Given the description of an element on the screen output the (x, y) to click on. 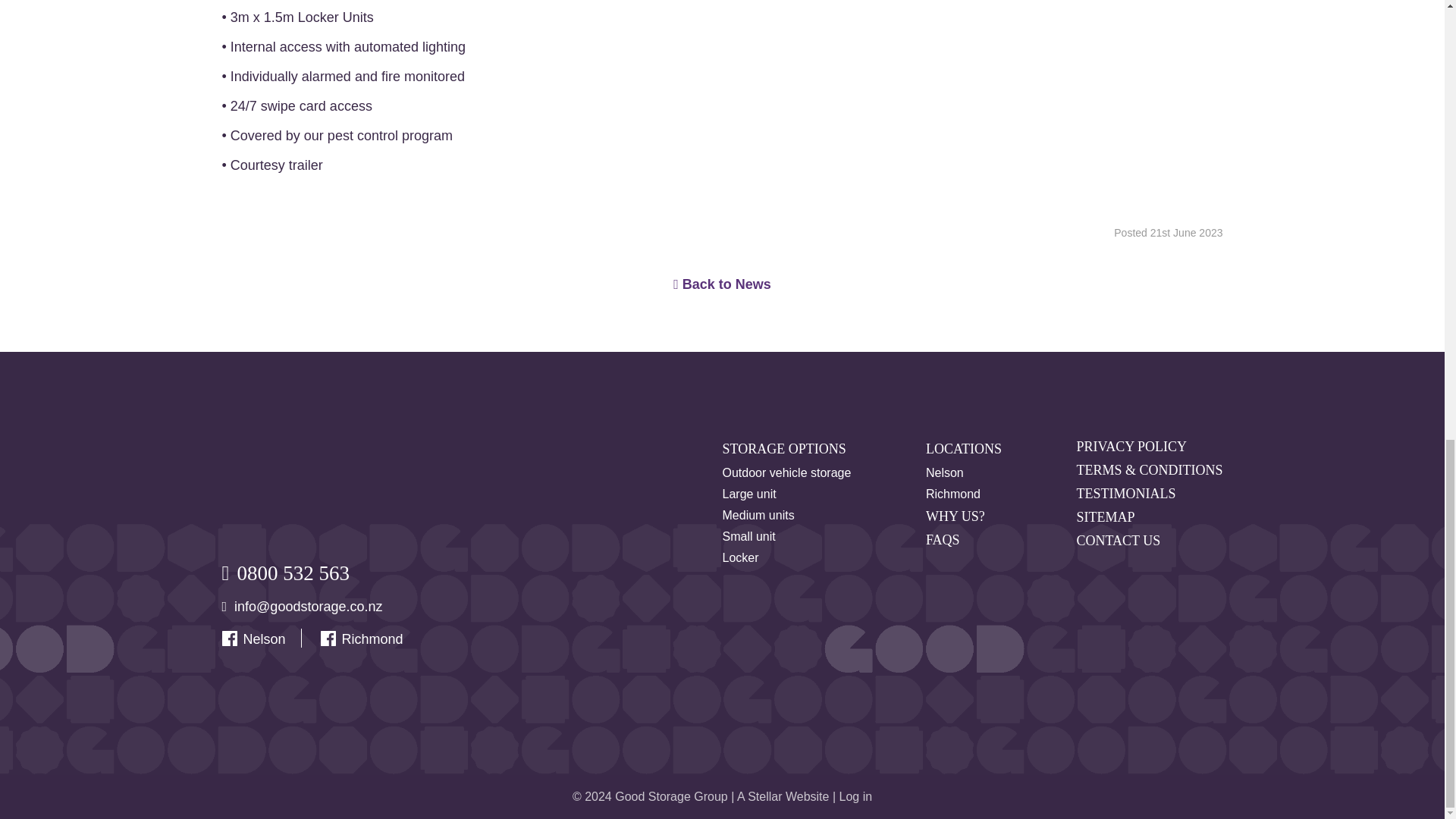
Richmond (372, 639)
PRIVACY POLICY (1130, 446)
Richmond (952, 494)
Locker (740, 558)
FAQS (942, 539)
Nelson (264, 639)
CONTACT US (1117, 540)
TESTIMONIALS (1124, 494)
Medium units (757, 515)
0800 532 563 (292, 573)
Good Storage Group (277, 480)
Outdoor vehicle storage (786, 472)
Nelson (944, 472)
STORAGE OPTIONS (783, 448)
Large unit (749, 494)
